Given the description of an element on the screen output the (x, y) to click on. 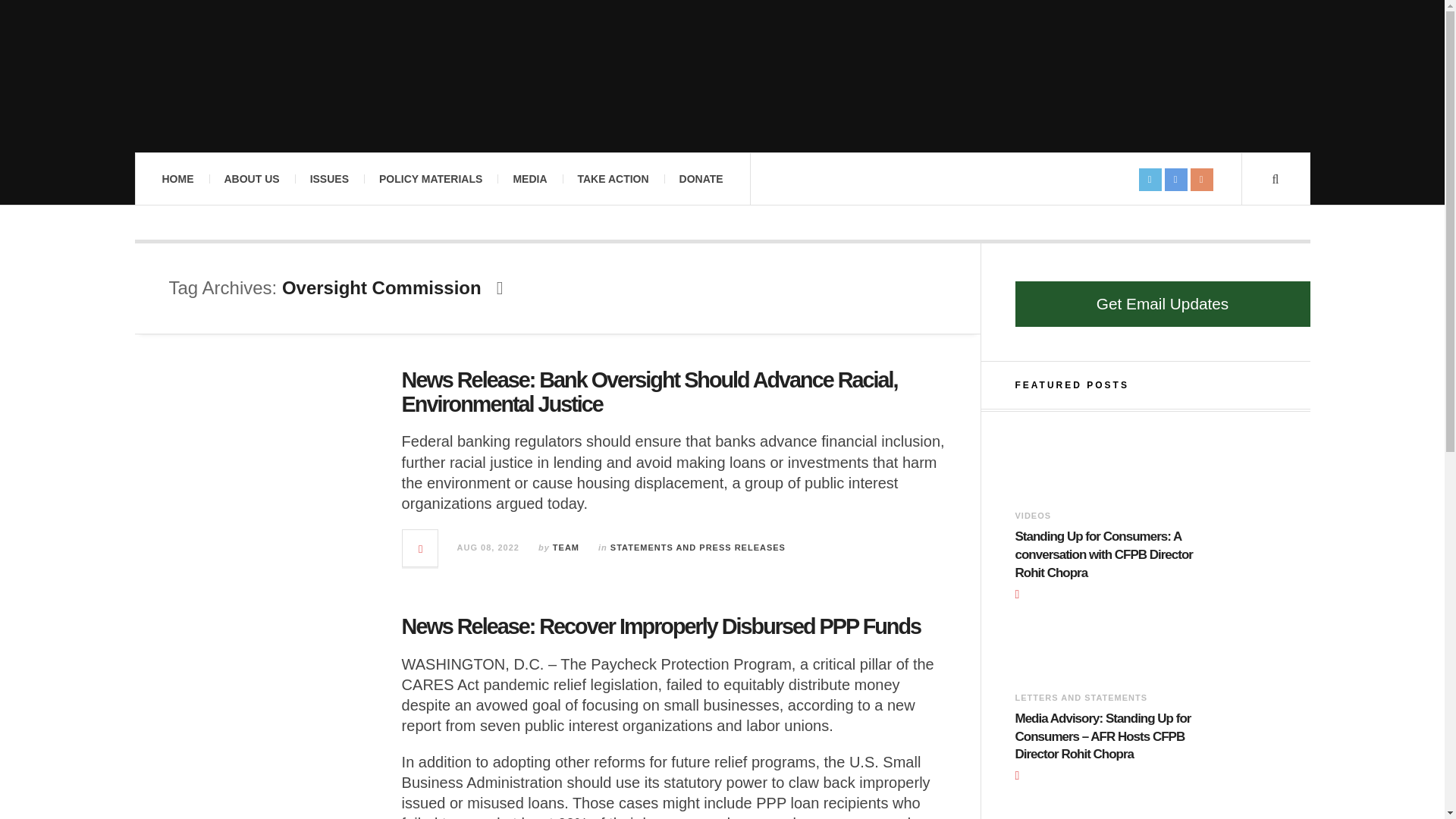
VIDEOS (1032, 515)
Get Email Updates (1162, 303)
DONATE (700, 178)
MEDIA (529, 178)
News Release: Recover Improperly Disbursed PPP Funds (660, 626)
View all posts in Statements and Press Releases (698, 547)
ISSUES (329, 178)
POLICY MATERIALS (430, 178)
STATEMENTS AND PRESS RELEASES (698, 547)
TAKE ACTION (612, 178)
